Given the description of an element on the screen output the (x, y) to click on. 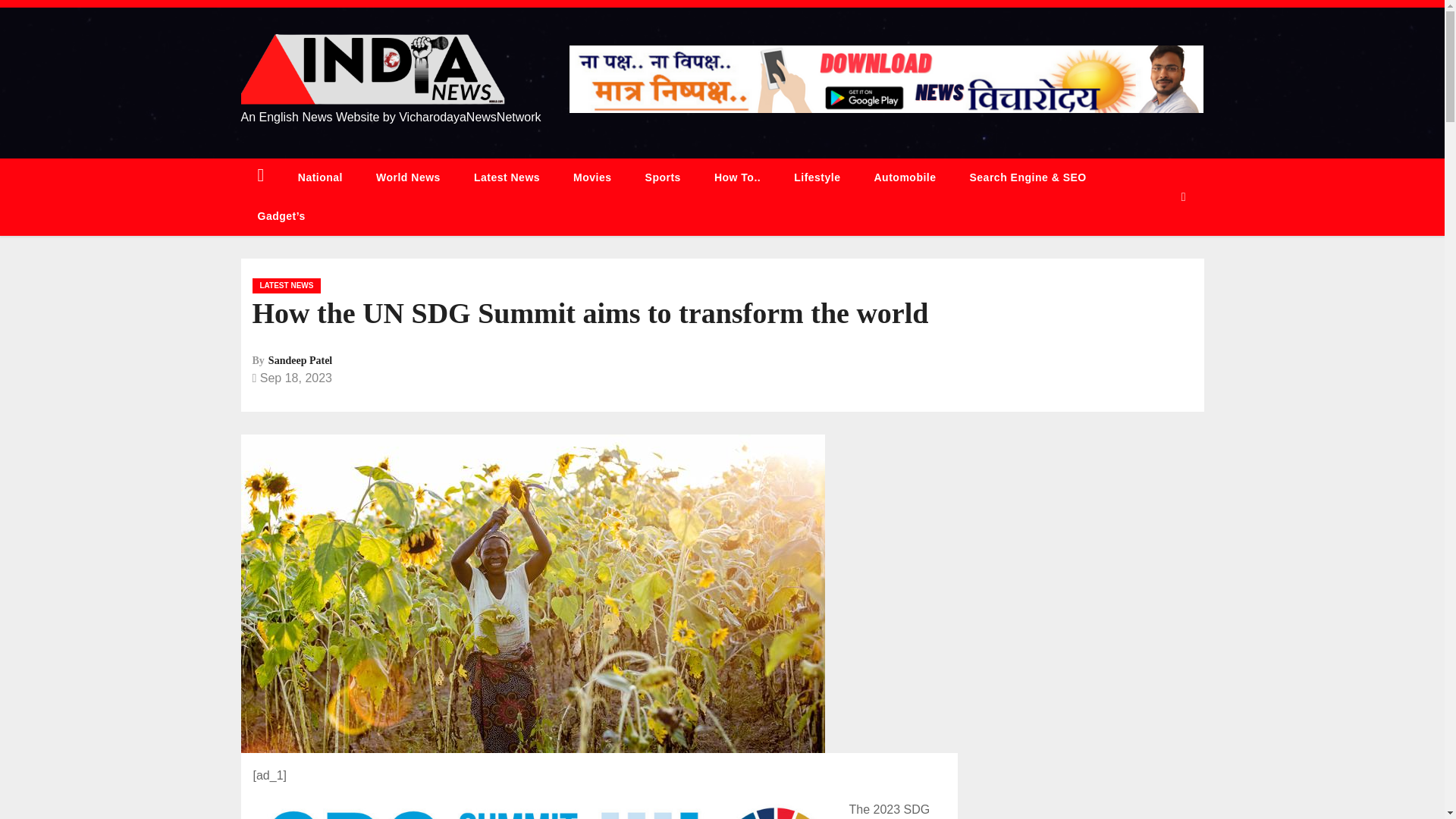
World News (408, 177)
Sports (662, 177)
Sports (662, 177)
LATEST NEWS (285, 285)
Automobile (904, 177)
Latest news (506, 177)
Latest News (506, 177)
National (320, 177)
Home (261, 177)
National (320, 177)
